Given the description of an element on the screen output the (x, y) to click on. 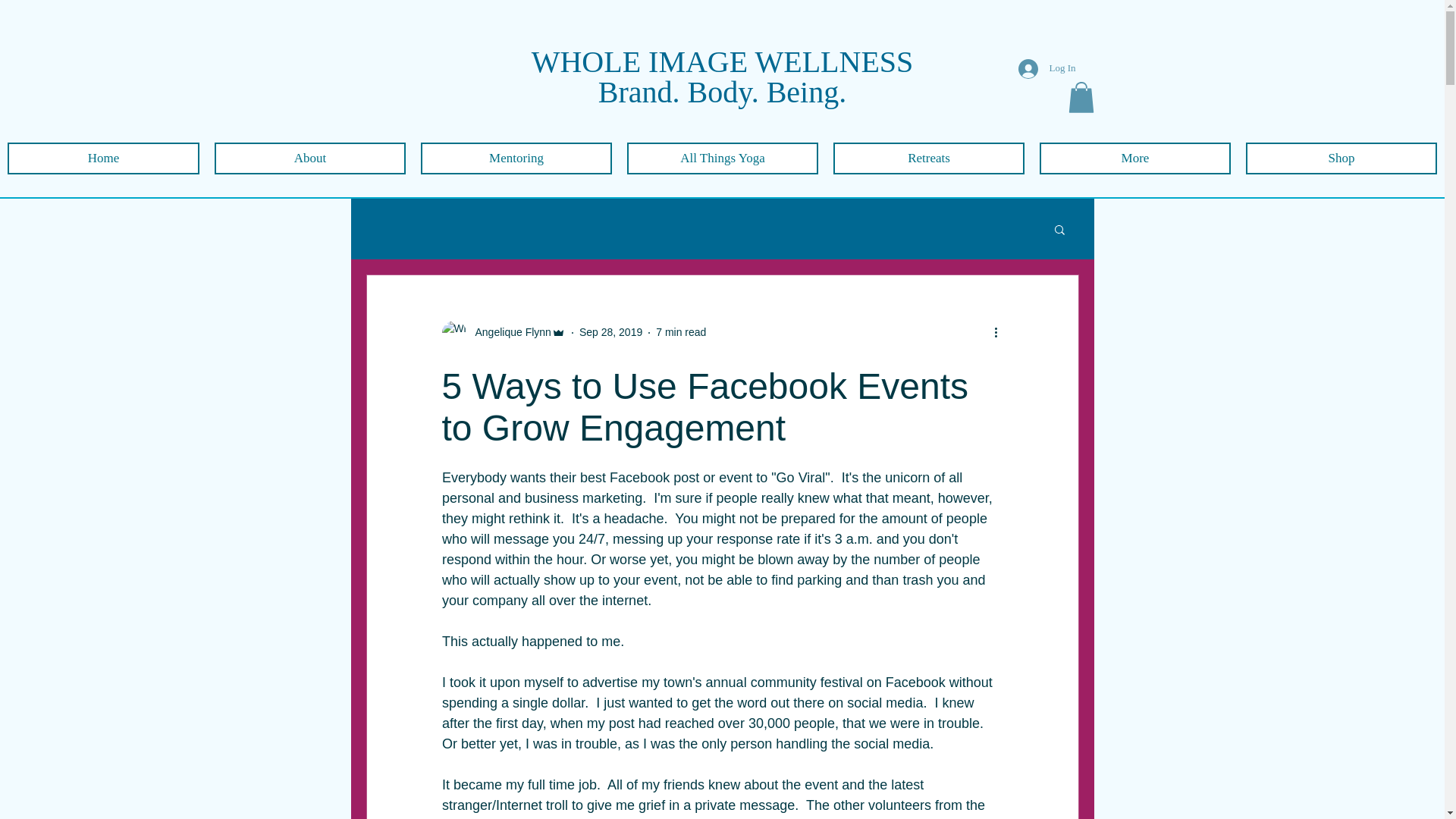
Angelique Flynn (507, 332)
Angelique Flynn (502, 332)
Sep 28, 2019 (610, 331)
Home (103, 158)
Log In (1046, 68)
About (310, 158)
Mentoring (515, 158)
All Things Yoga (722, 158)
7 min read (681, 331)
Shop (1341, 158)
